Given the description of an element on the screen output the (x, y) to click on. 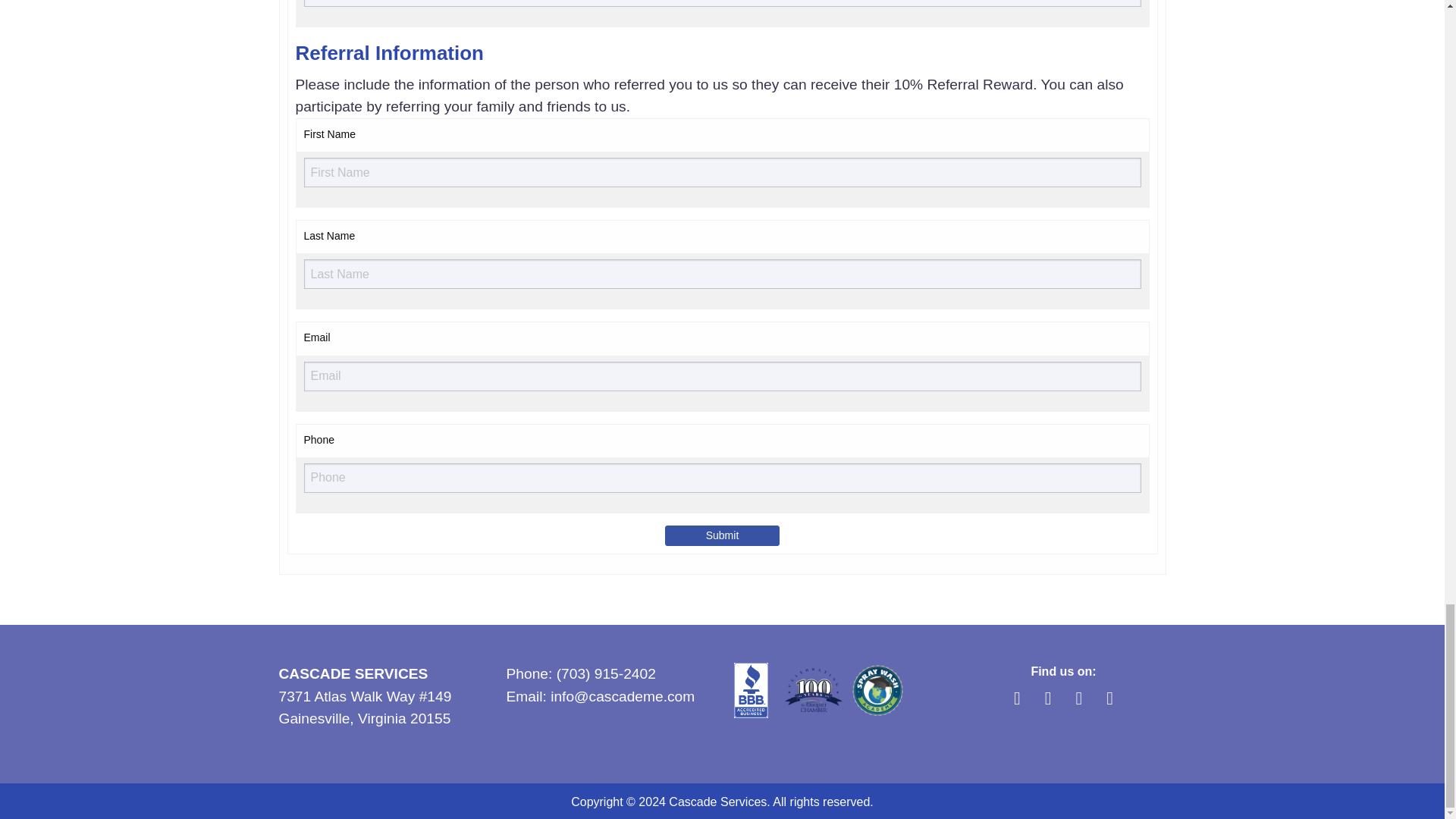
Submit (721, 535)
